Given the description of an element on the screen output the (x, y) to click on. 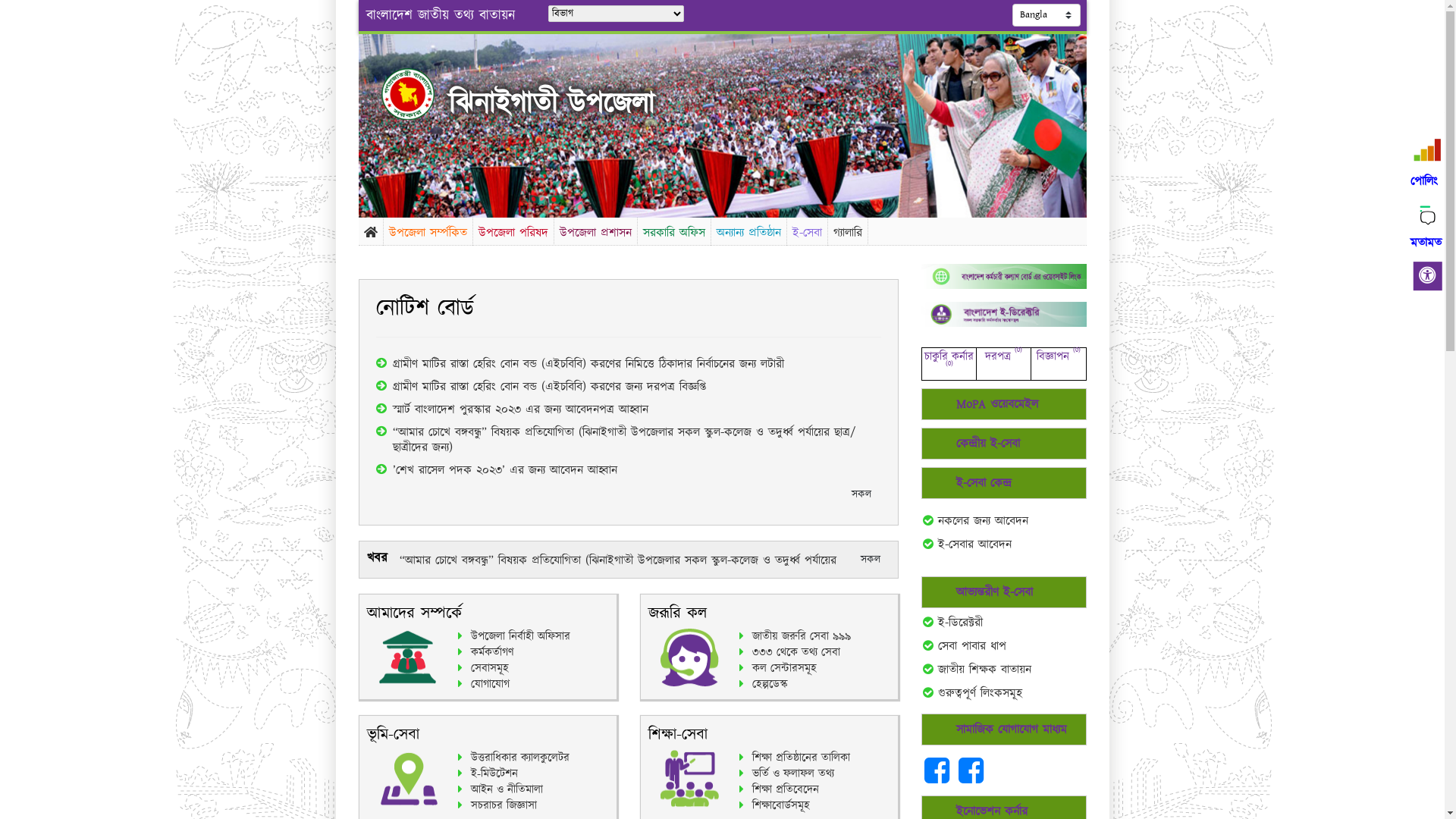
facebook Element type: hover (970, 777)

                
             Element type: hover (420, 93)
facebook Element type: hover (938, 777)
